Given the description of an element on the screen output the (x, y) to click on. 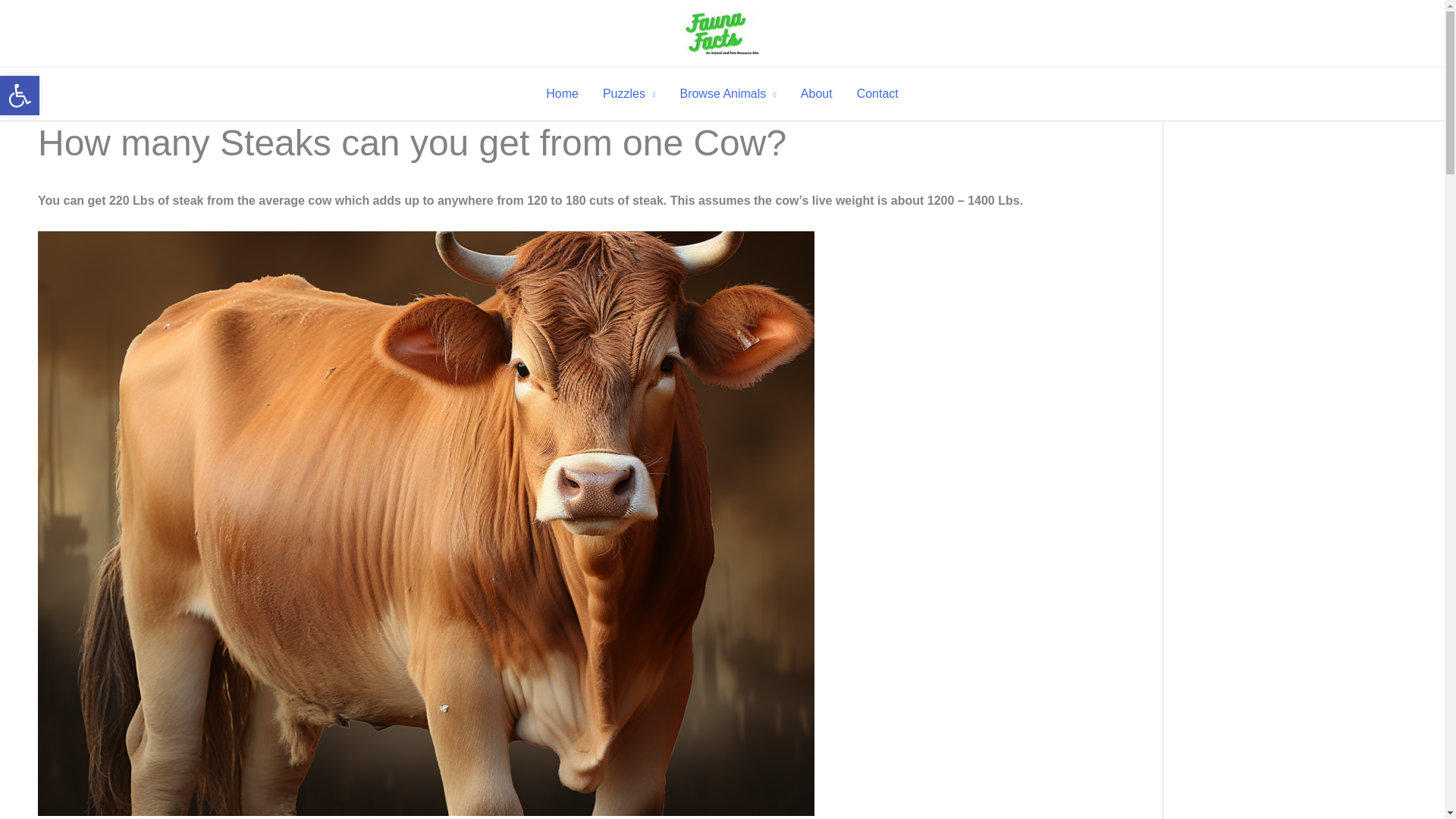
Contact (877, 93)
Puzzles (629, 93)
About (816, 93)
Home (562, 93)
Browse Animals (726, 93)
Accessibility Tools (19, 95)
Accessibility Tools (19, 95)
